Given the description of an element on the screen output the (x, y) to click on. 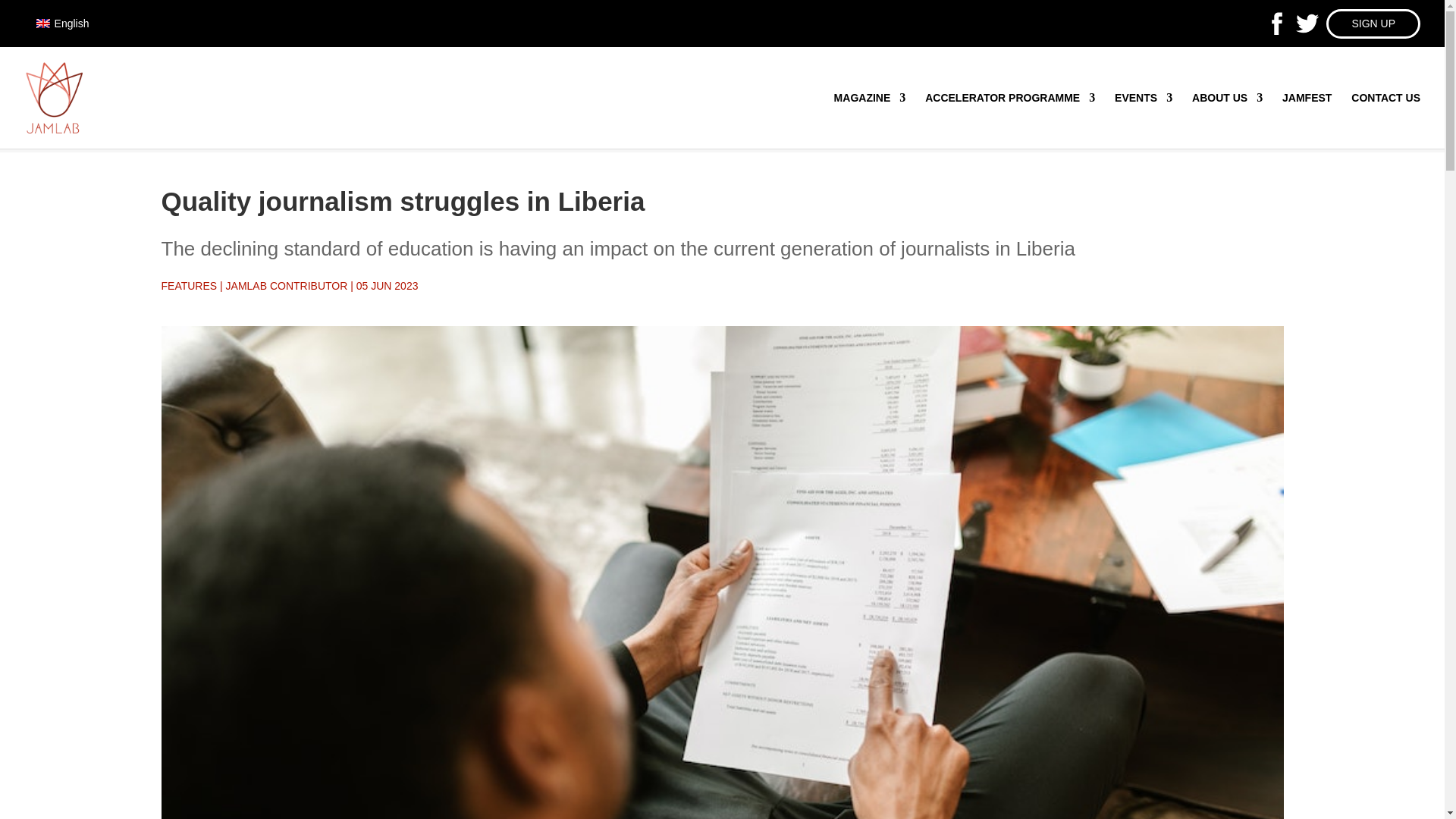
LATEST (189, 102)
EVENTS (1143, 120)
BUSINESS MODELS (527, 102)
REVIEWS (621, 102)
SIGN UP (1373, 23)
CONTACT US (1386, 120)
EVENTS (746, 102)
ABOUT US (1227, 120)
JAMFEST (1307, 120)
MAGAZINE (869, 120)
ACCELERATOR PROGRAMME (379, 102)
FEATURES (255, 102)
HOW TO (684, 102)
English (63, 23)
ACCELERATOR PROGRAMME (1009, 120)
